Given the description of an element on the screen output the (x, y) to click on. 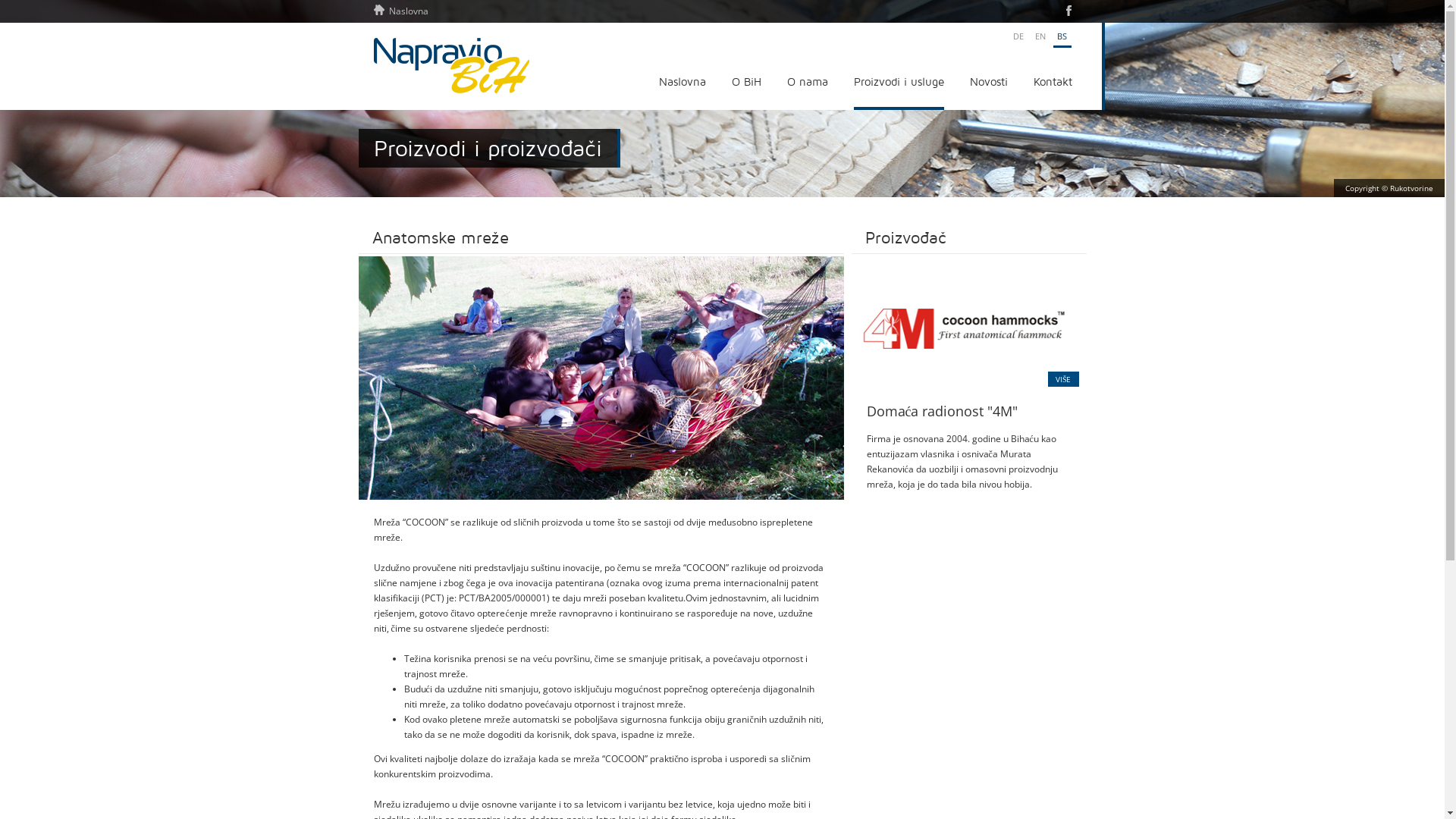
Novosti Element type: text (988, 84)
Kontakt Element type: text (1051, 84)
Naslovna Element type: text (681, 84)
Proizvodi i usluge Element type: text (898, 84)
Facebook Element type: text (1068, 10)
EN Element type: text (1040, 36)
DE Element type: text (1017, 36)
O nama Element type: text (807, 84)
Naslovna Element type: text (400, 10)
BS Element type: text (1061, 37)
O BiH Element type: text (745, 84)
